Given the description of an element on the screen output the (x, y) to click on. 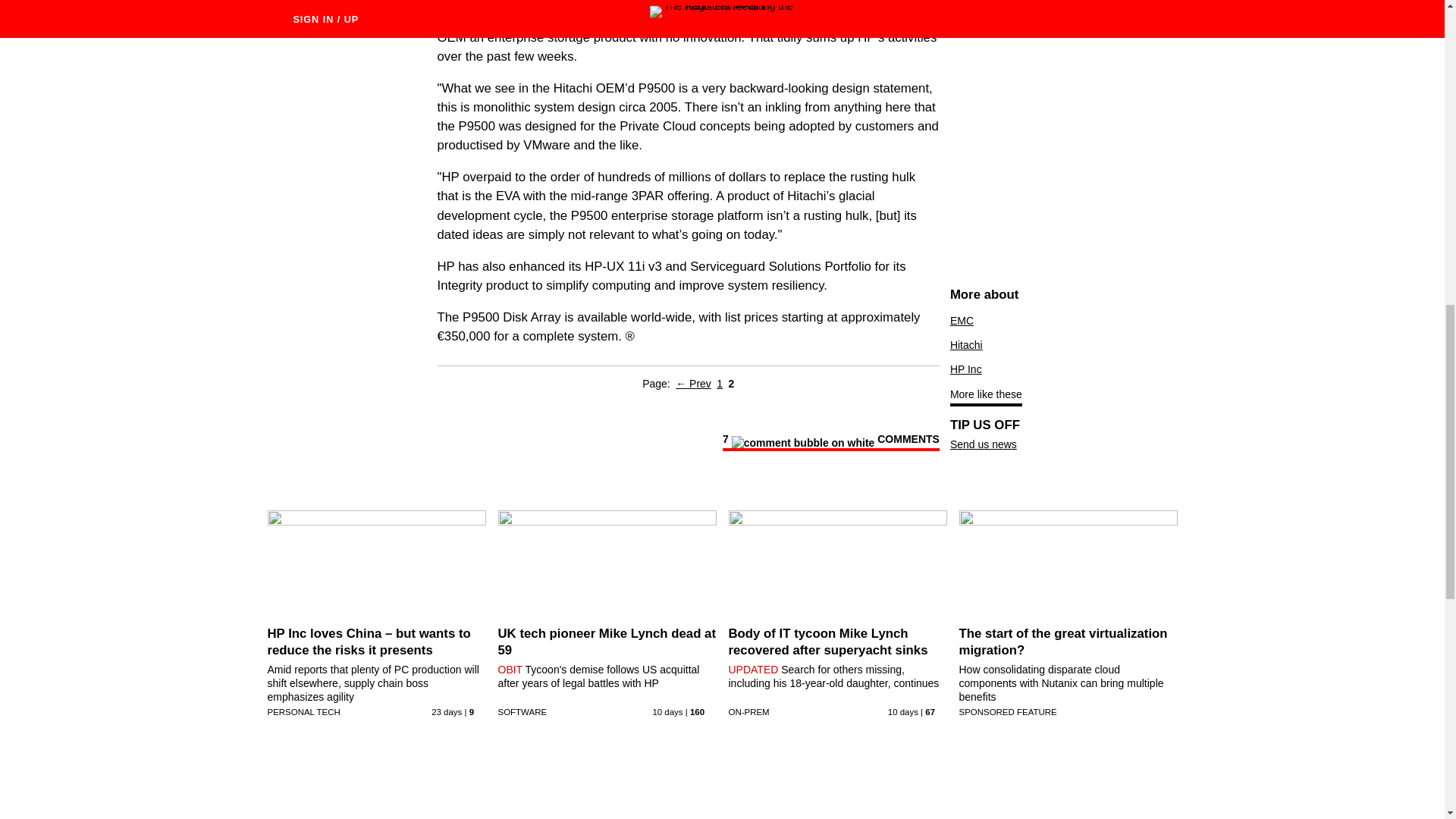
21 Aug 2024 19:15 (667, 711)
9 Aug 2024 3:45 (445, 711)
View comments on this article (830, 442)
21 Aug 2024 18:37 (903, 711)
